Given the description of an element on the screen output the (x, y) to click on. 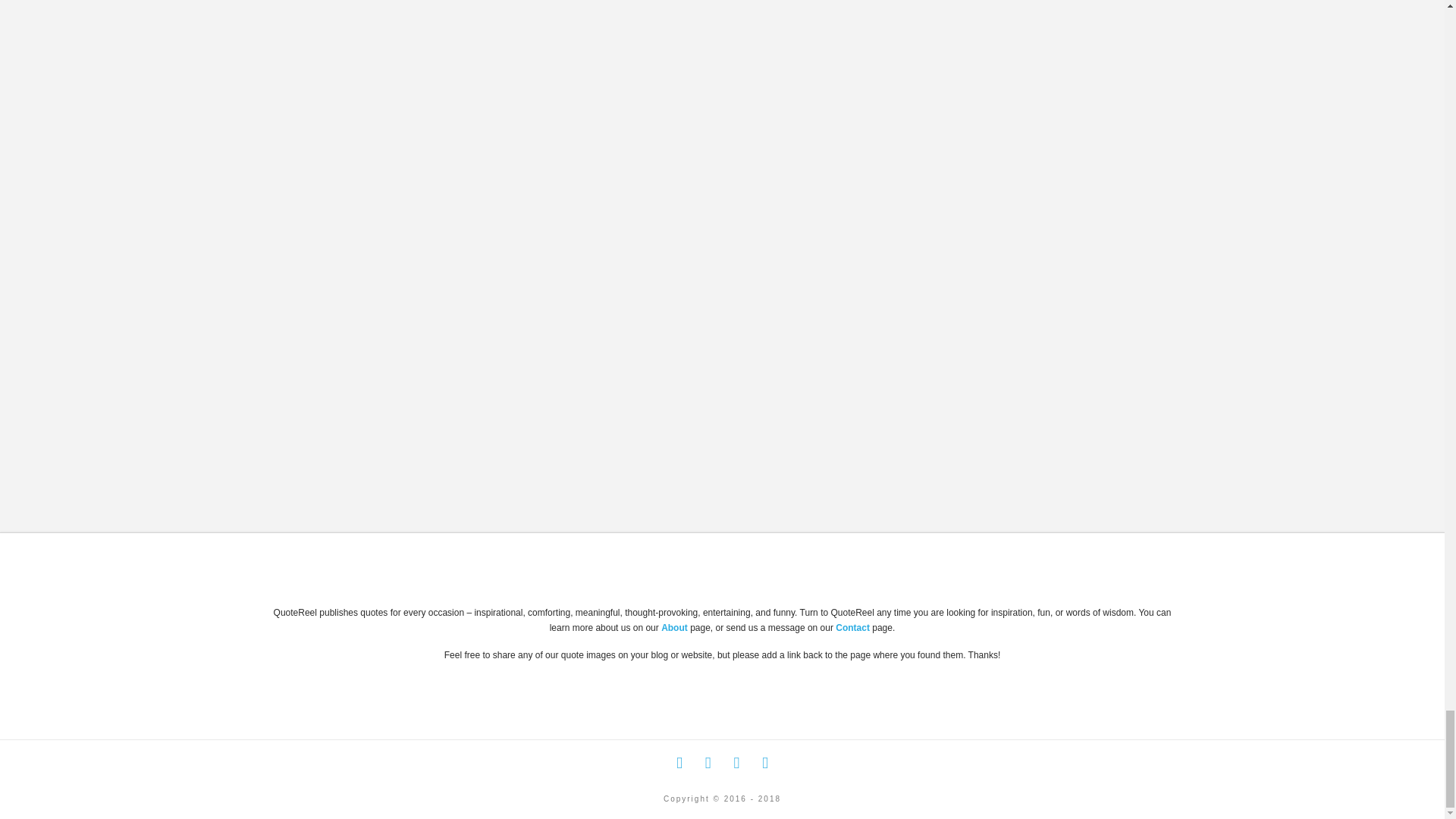
Facebook (679, 763)
Twitter (707, 763)
Pinterest (764, 763)
